Given the description of an element on the screen output the (x, y) to click on. 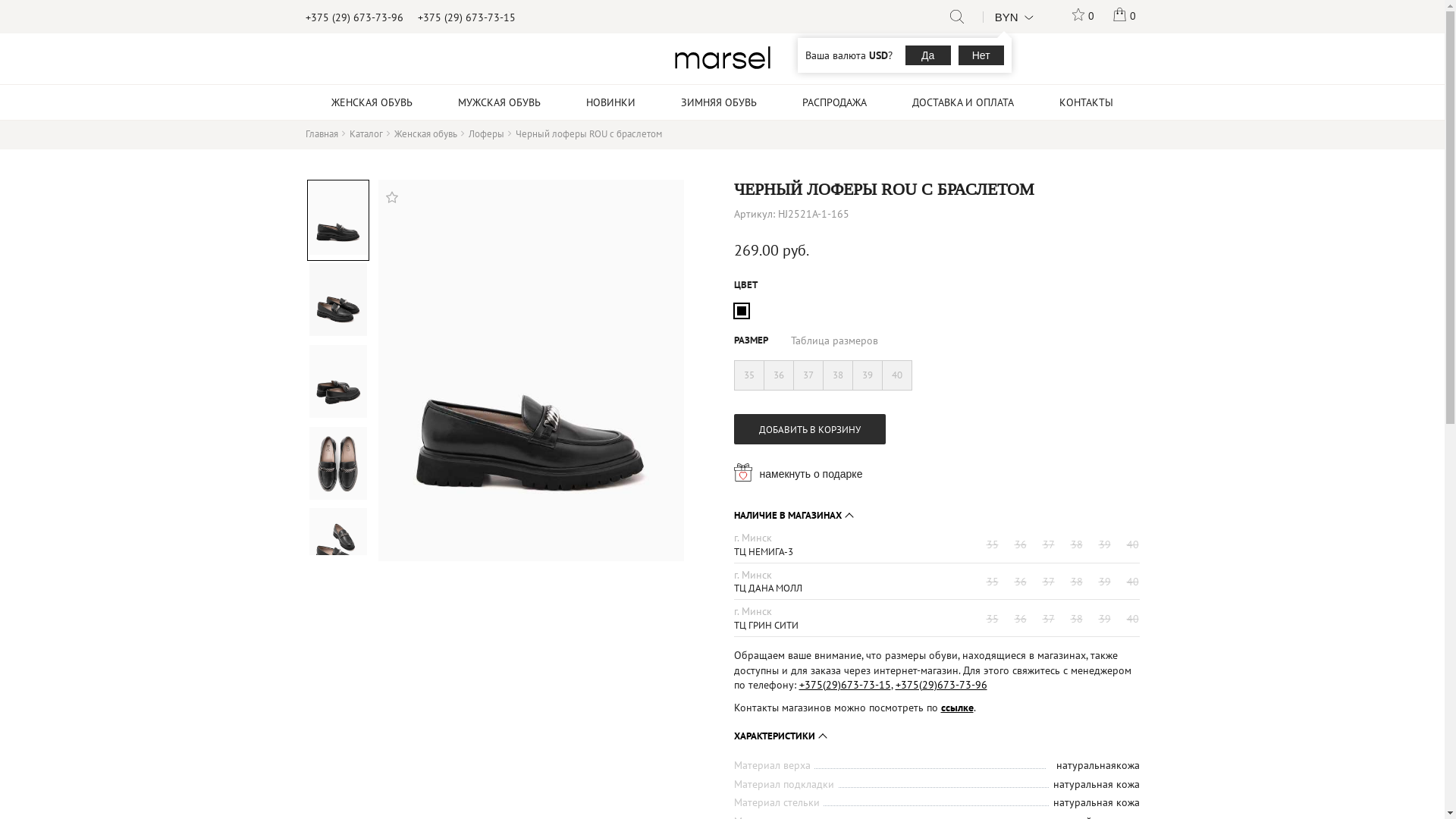
0 Element type: text (1082, 16)
+375(29)673-73-96 Element type: text (940, 684)
+375 (29) 673-73-15 Element type: text (465, 17)
0 Element type: text (1123, 16)
+375 (29) 673-73-96 Element type: text (353, 17)
+375(29)673-73-15 Element type: text (845, 684)
